Given the description of an element on the screen output the (x, y) to click on. 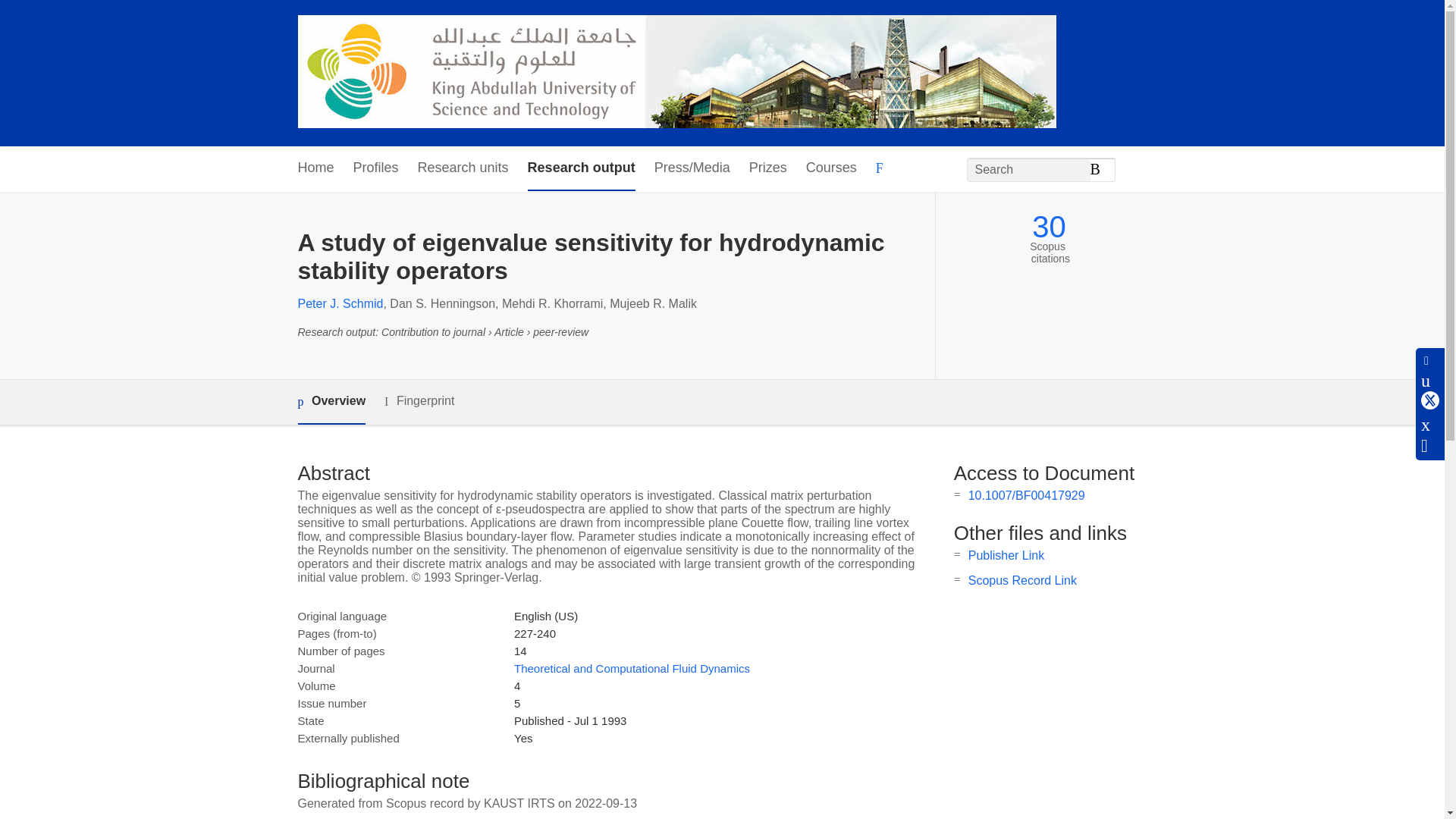
Courses (831, 168)
Home (315, 168)
Publisher Link (1006, 554)
KAUST PORTAL FOR RESEARCHERS AND STUDENTS Home (676, 73)
Prizes (768, 168)
Overview (331, 402)
Theoretical and Computational Fluid Dynamics (631, 667)
Scopus Record Link (1022, 580)
Profiles (375, 168)
Fingerprint (419, 401)
Research units (462, 168)
30 (1048, 226)
Peter J. Schmid (339, 303)
Research output (580, 168)
